Given the description of an element on the screen output the (x, y) to click on. 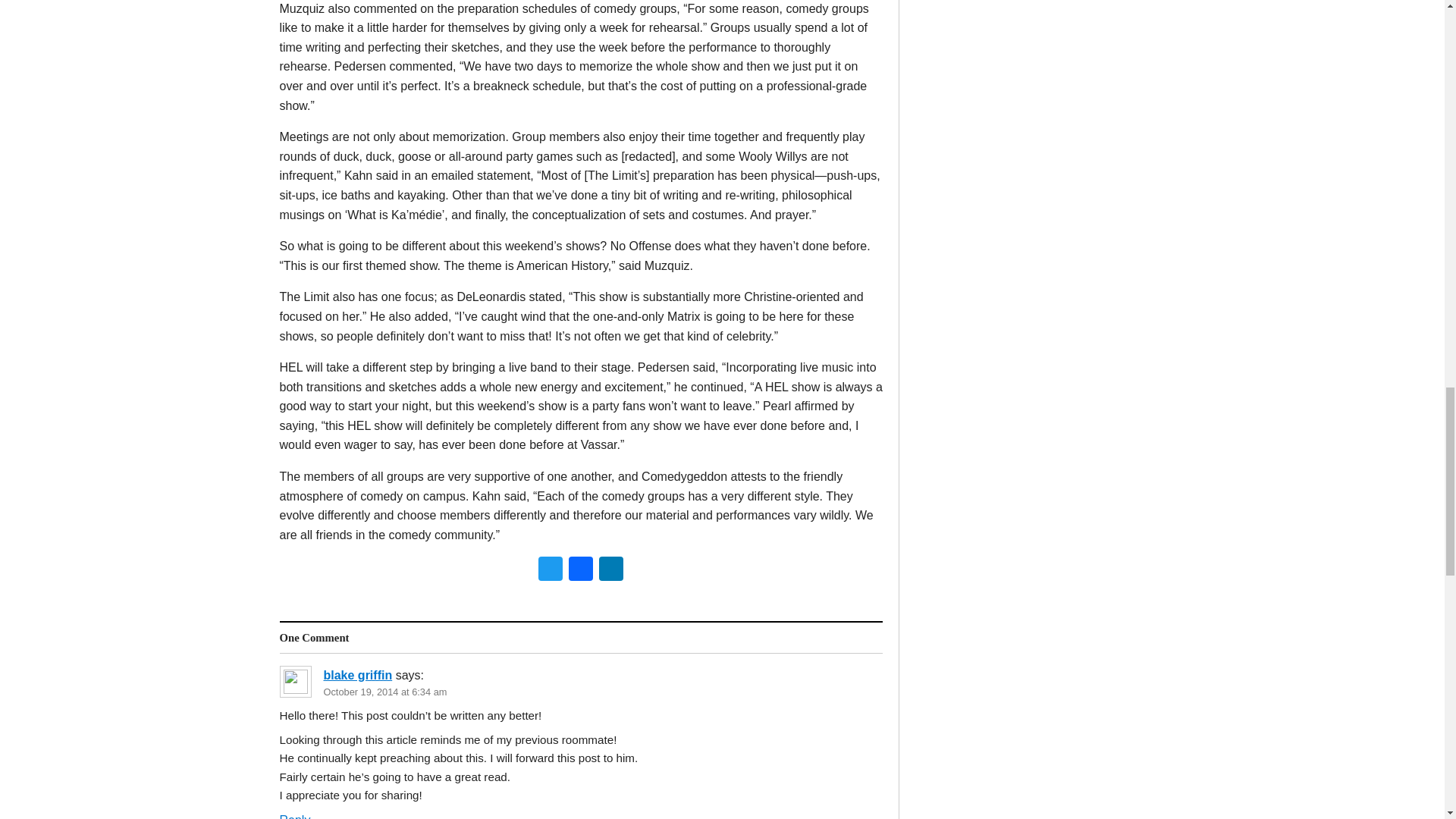
LinkedIn (610, 570)
October 19, 2014 at 6:34 am (384, 691)
Facebook (580, 570)
Twitter (550, 570)
Facebook (580, 570)
Twitter (550, 570)
Reply (294, 816)
LinkedIn (610, 570)
blake griffin (357, 675)
